Given the description of an element on the screen output the (x, y) to click on. 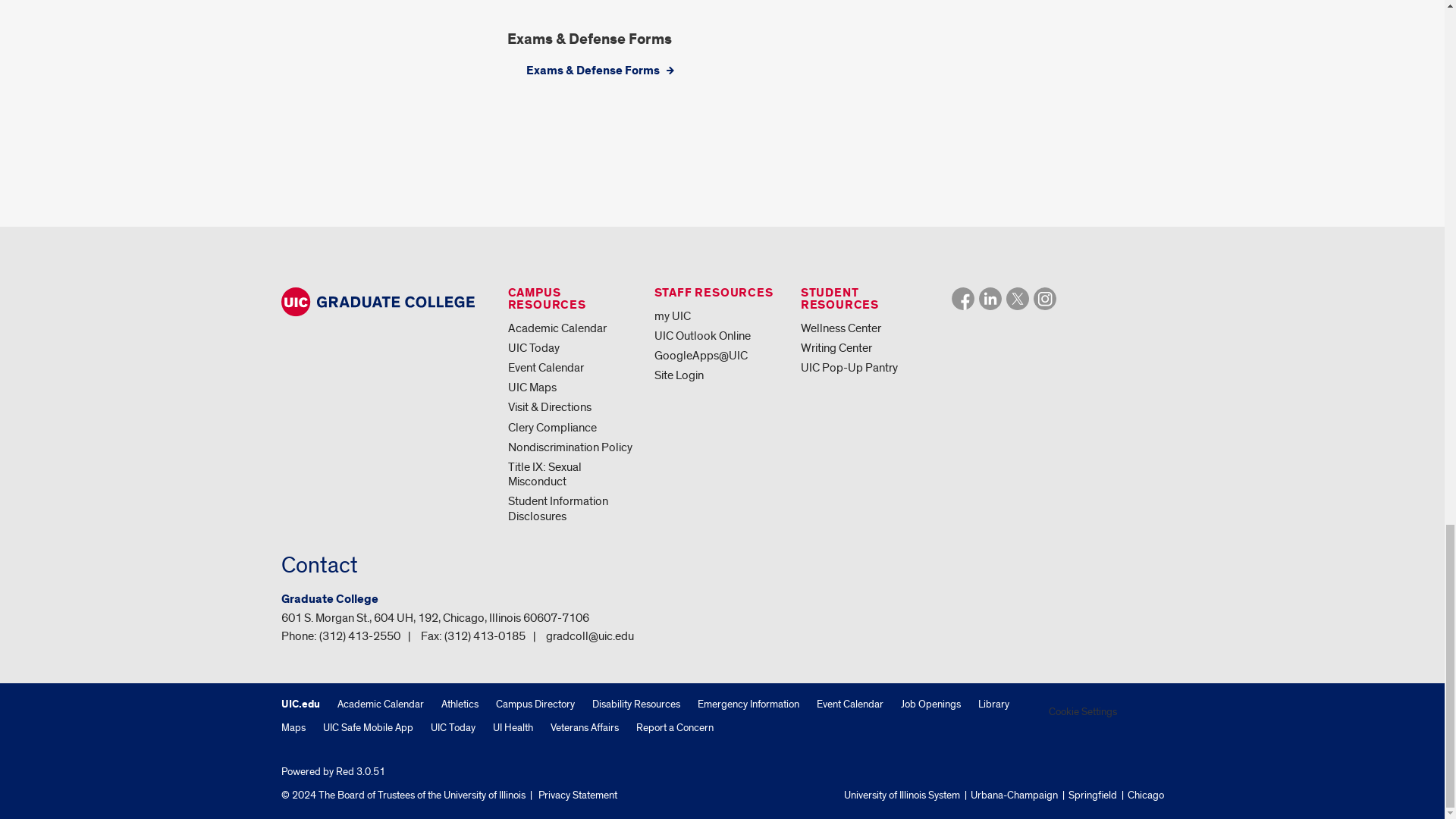
X (1017, 298)
Facebook (963, 298)
Instagram (1045, 298)
Linked In (989, 298)
